Given the description of an element on the screen output the (x, y) to click on. 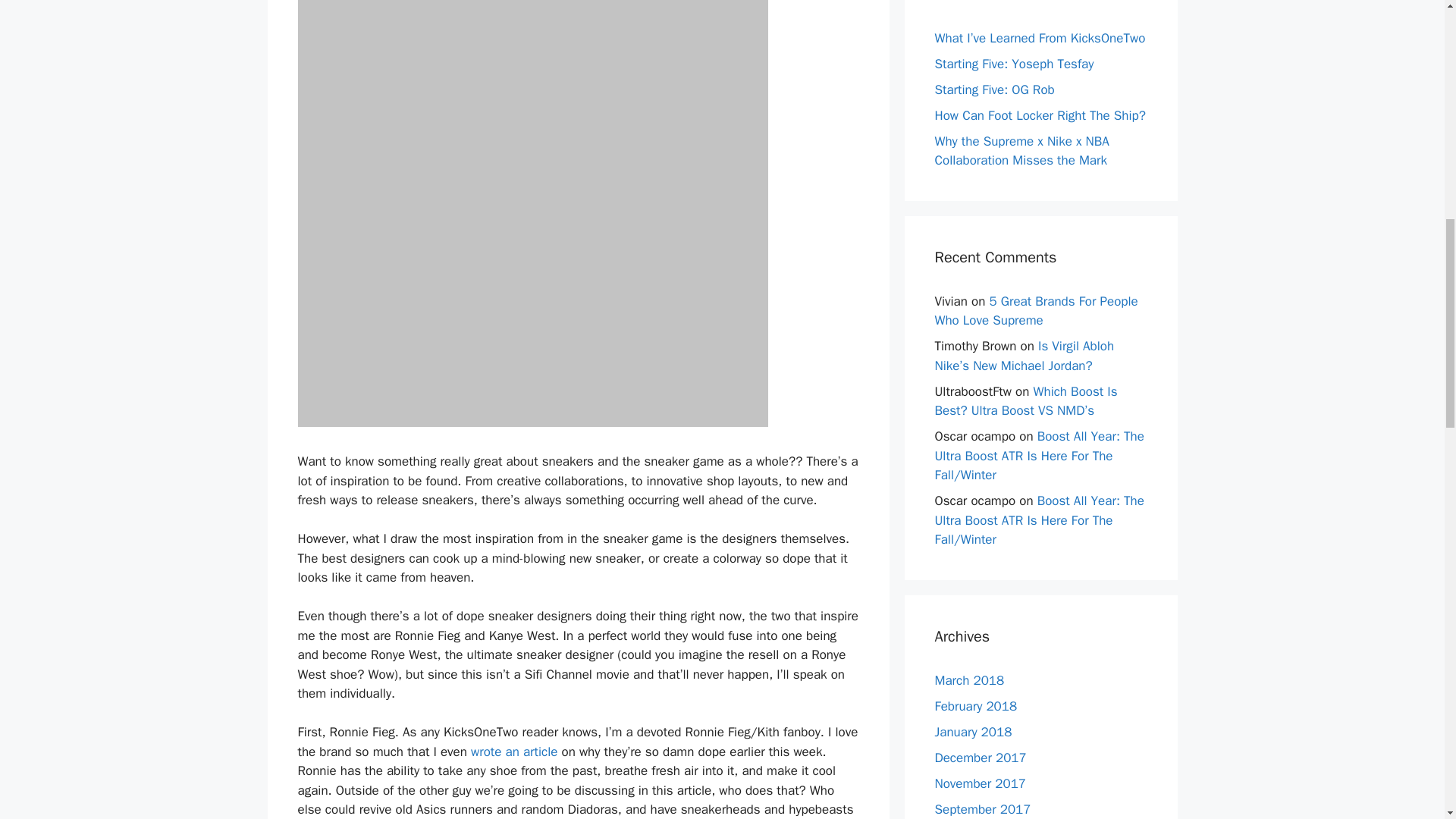
Why the Supreme x Nike x NBA Collaboration Misses the Mark (1021, 150)
Starting Five: OG Rob (994, 89)
Starting Five: Yoseph Tesfay (1013, 64)
wrote an article (513, 751)
5 Great Brands For People Who Love Supreme (1035, 310)
How Can Foot Locker Right The Ship? (1039, 115)
